Given the description of an element on the screen output the (x, y) to click on. 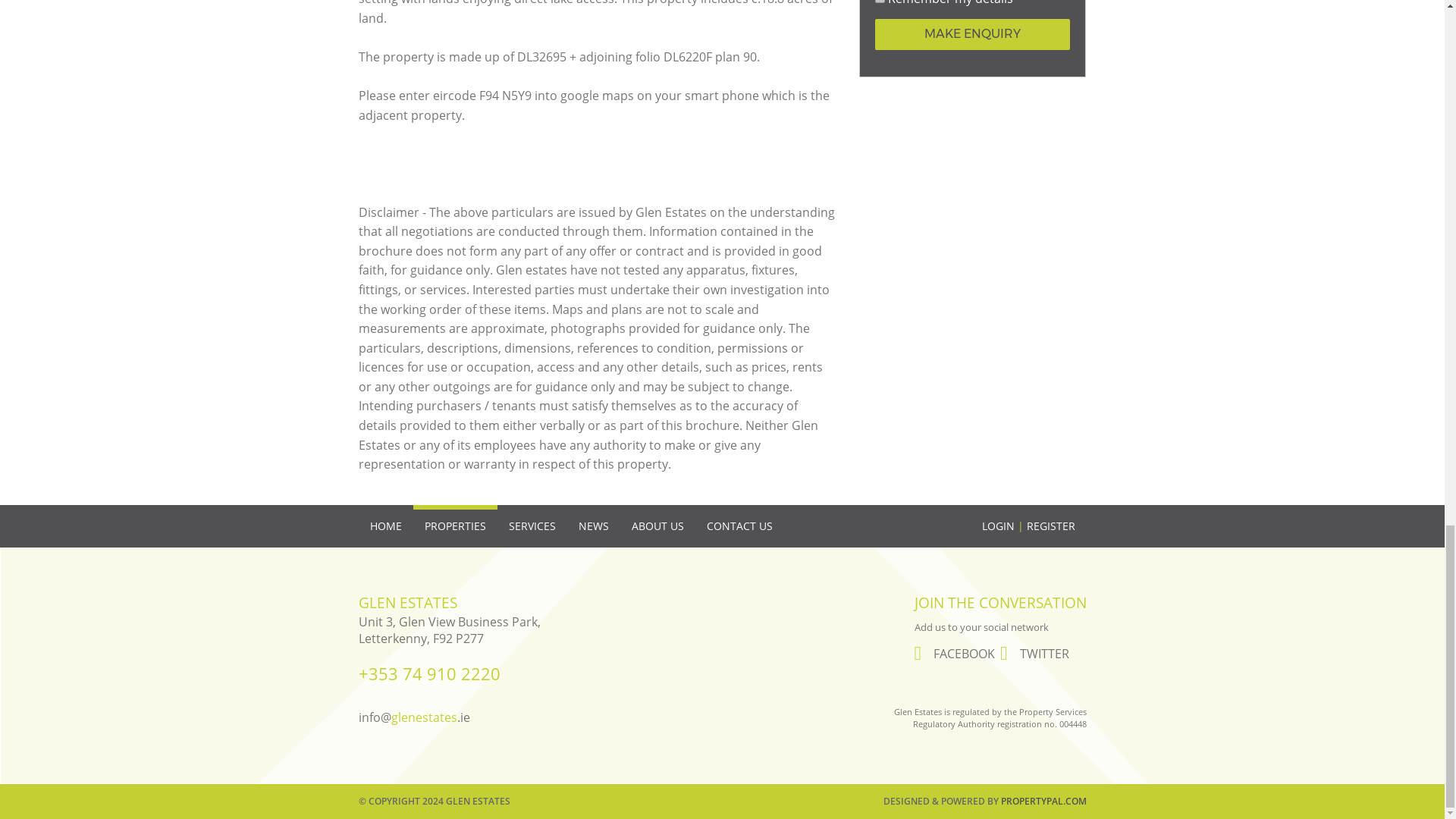
true (880, 1)
